Given the description of an element on the screen output the (x, y) to click on. 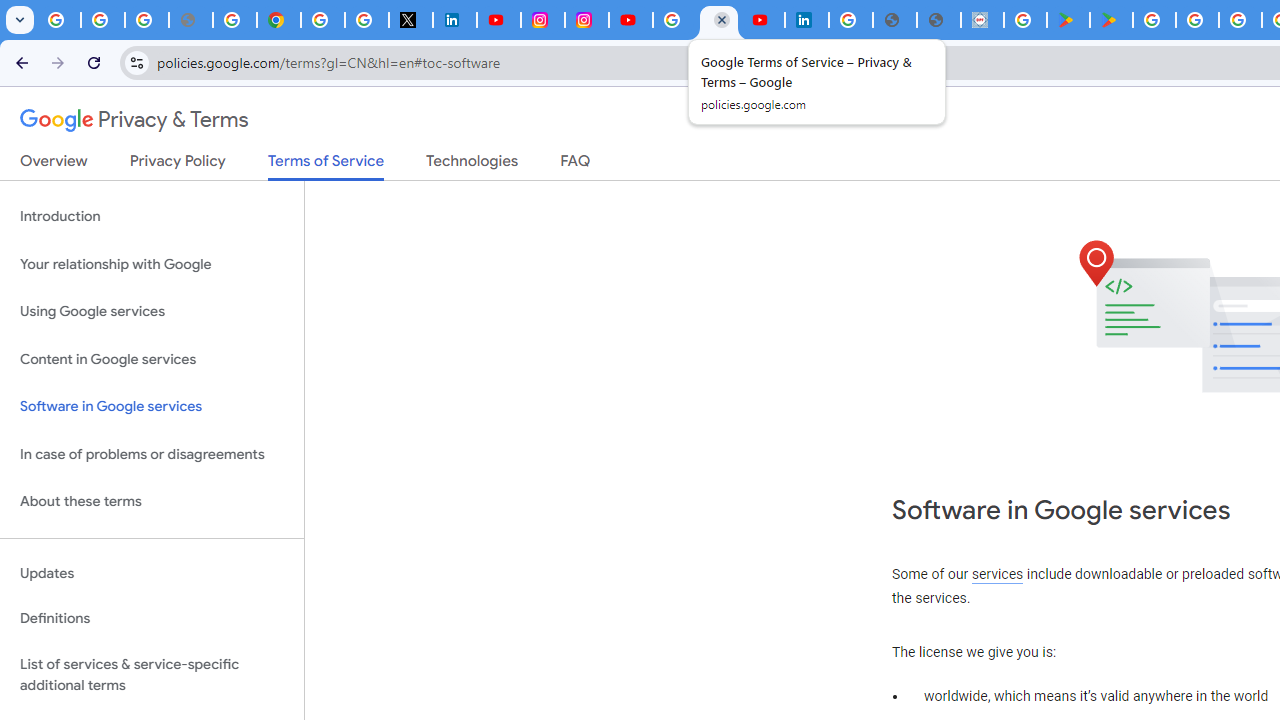
support.google.com - Network error (190, 20)
YouTube Content Monetization Policies - How YouTube Works (498, 20)
User Details (938, 20)
PAW Patrol Rescue World - Apps on Google Play (1111, 20)
